Given the description of an element on the screen output the (x, y) to click on. 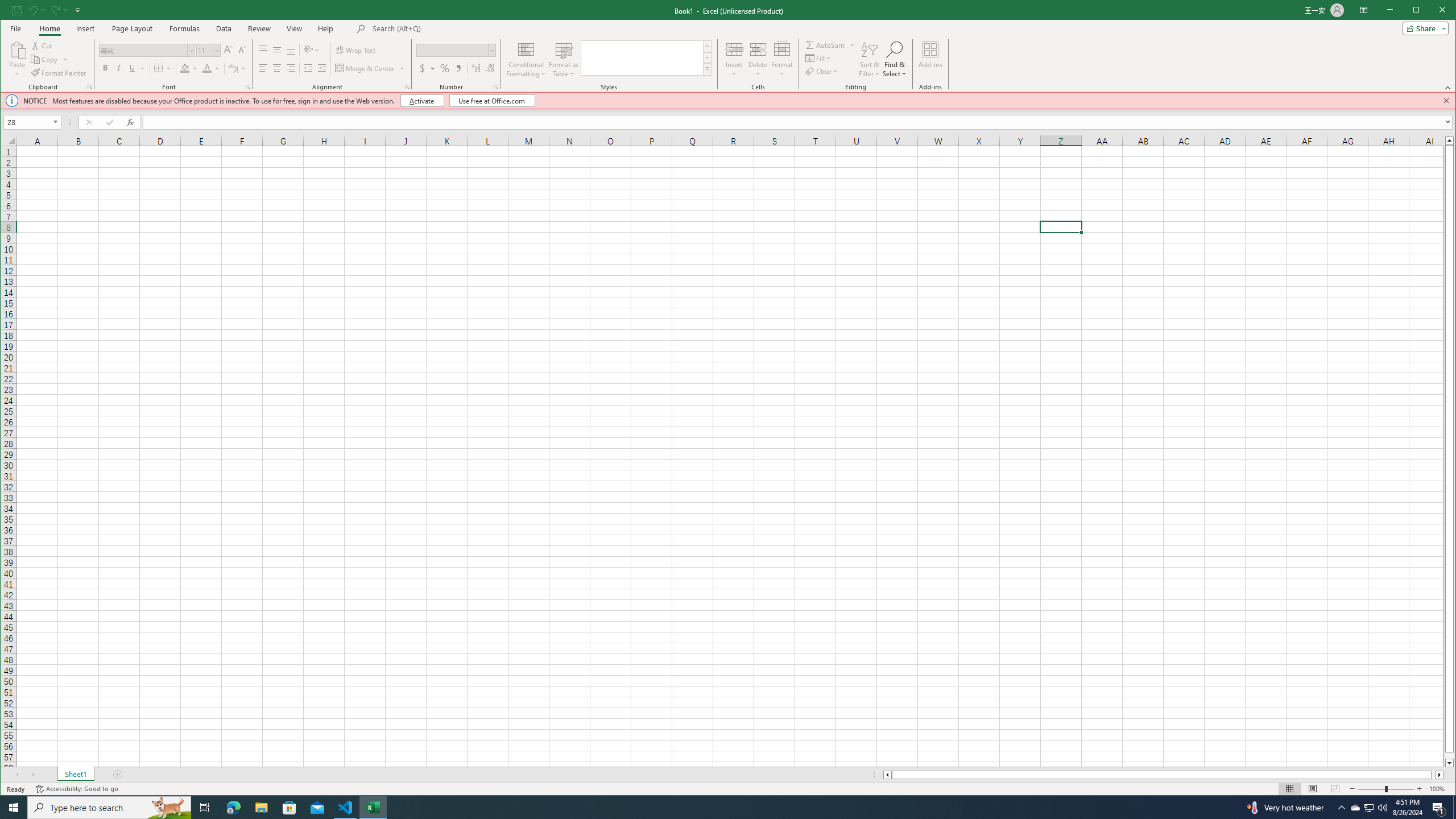
Format Painter (59, 72)
Delete (757, 59)
Merge & Center (365, 68)
Center (276, 68)
Font Size (208, 49)
Comma Style (458, 68)
Underline (132, 68)
Fill Color (184, 68)
Increase Indent (321, 68)
Middle Align (276, 49)
